Given the description of an element on the screen output the (x, y) to click on. 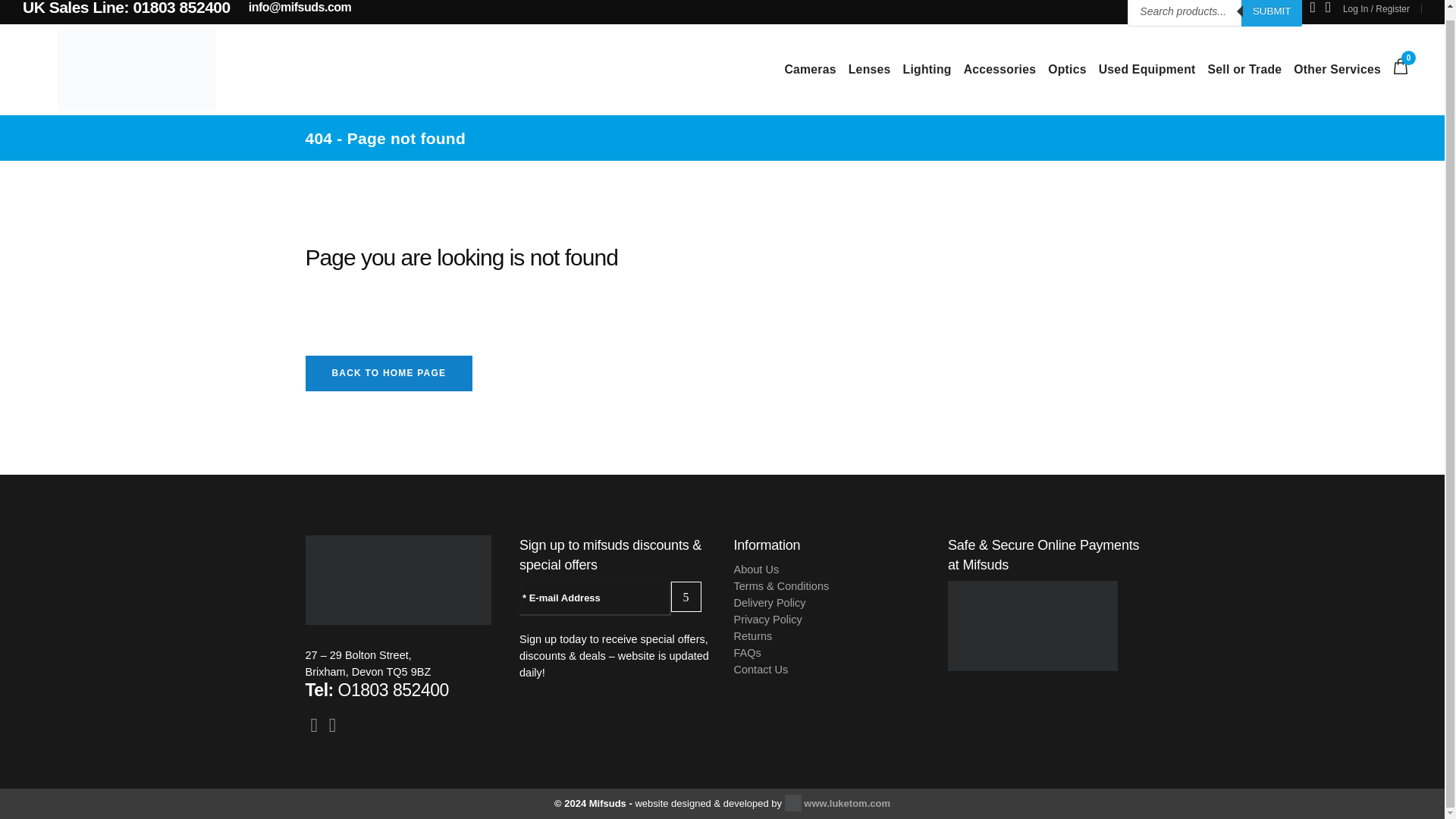
5 (686, 596)
SUBMIT (1271, 13)
U (1054, 412)
Accessories (1000, 69)
